Given the description of an element on the screen output the (x, y) to click on. 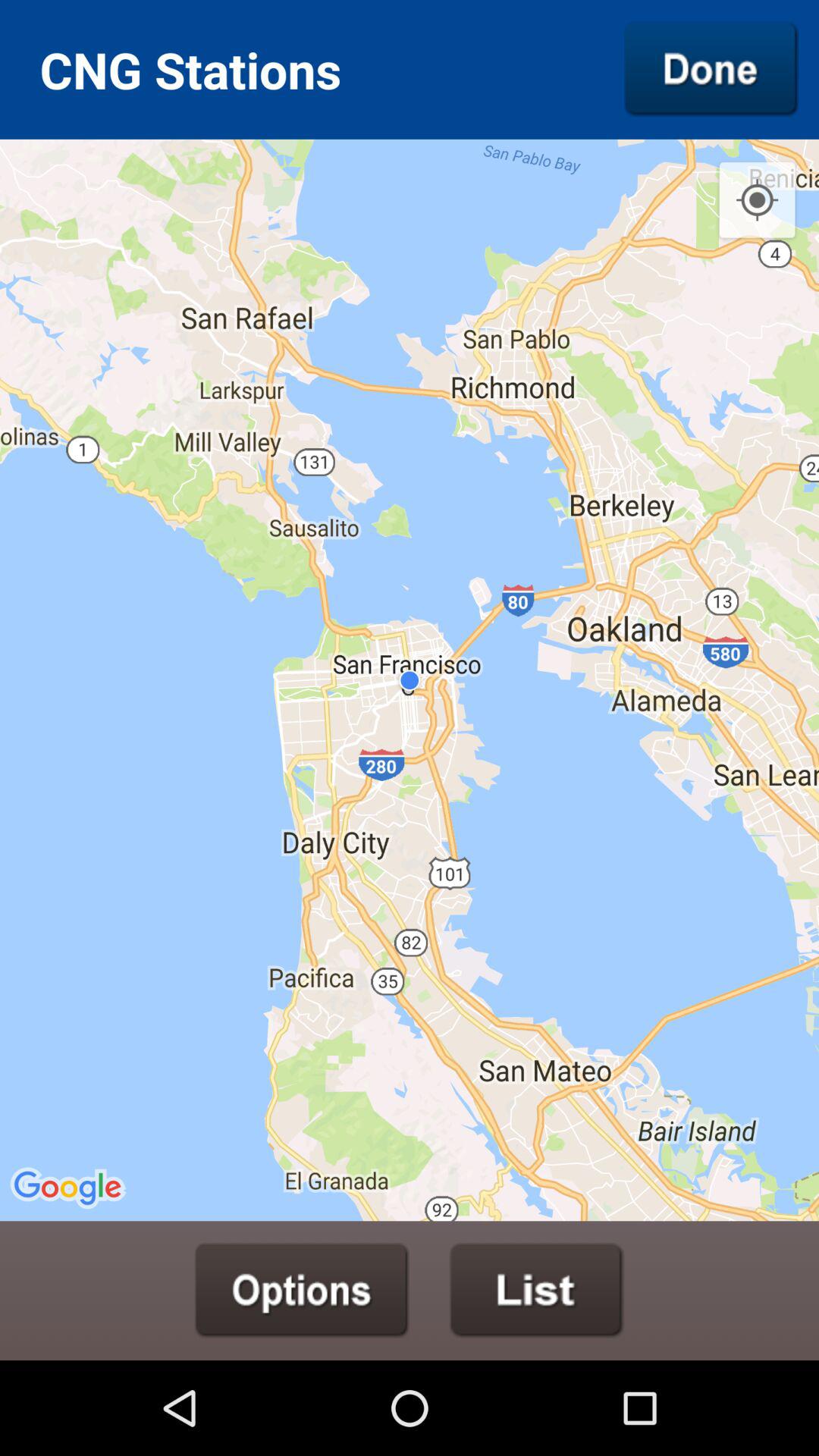
explore options (301, 1290)
